Given the description of an element on the screen output the (x, y) to click on. 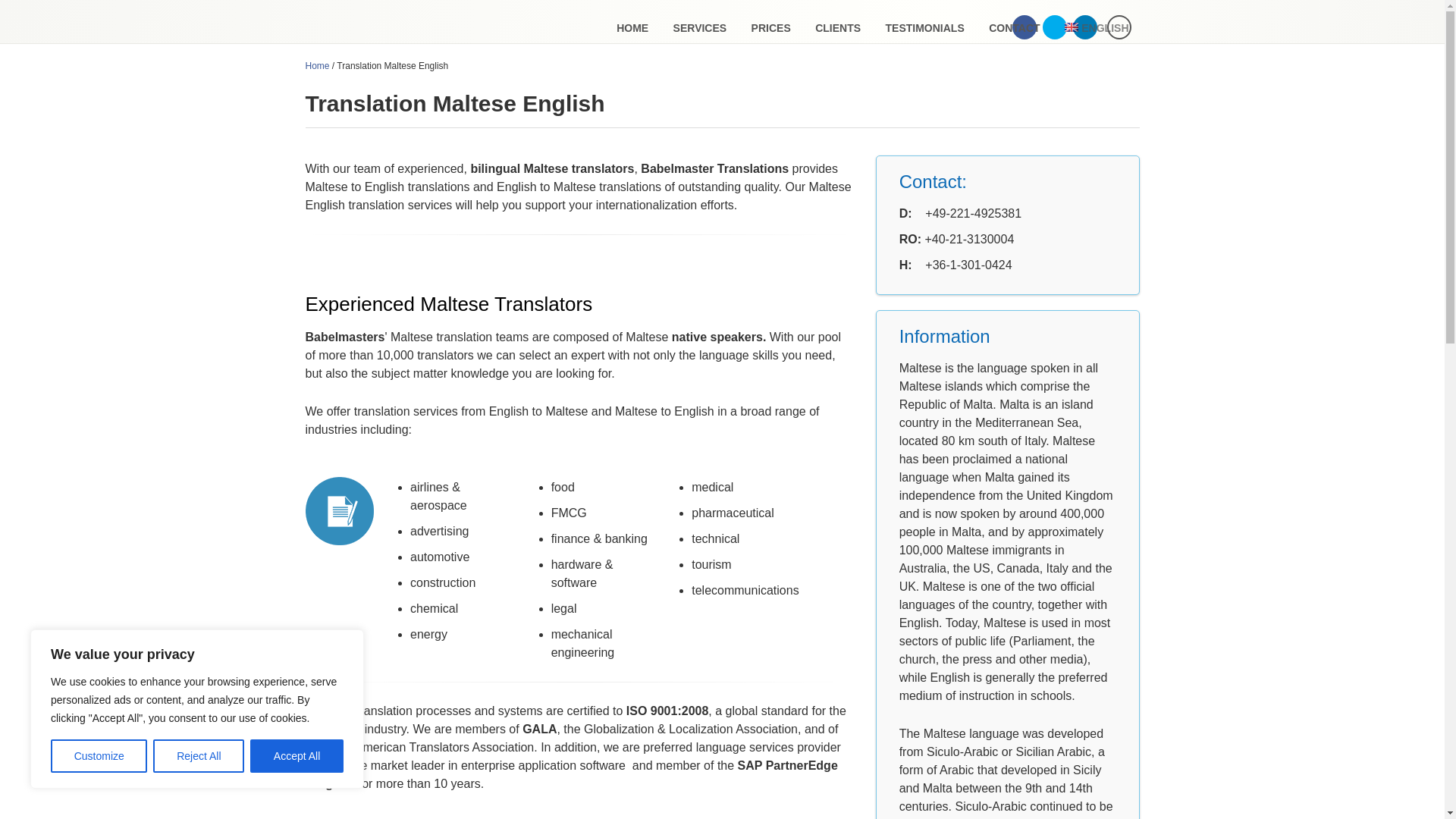
ENGLISH (1096, 28)
HOME (632, 28)
CET Translations (399, 24)
SERVICES (700, 28)
PRICES (771, 28)
CONTACT (1013, 28)
English (1096, 28)
TESTIMONIALS (925, 28)
Reject All (198, 756)
English (1071, 26)
Accept All (296, 756)
Customize (98, 756)
CLIENTS (837, 28)
